Given the description of an element on the screen output the (x, y) to click on. 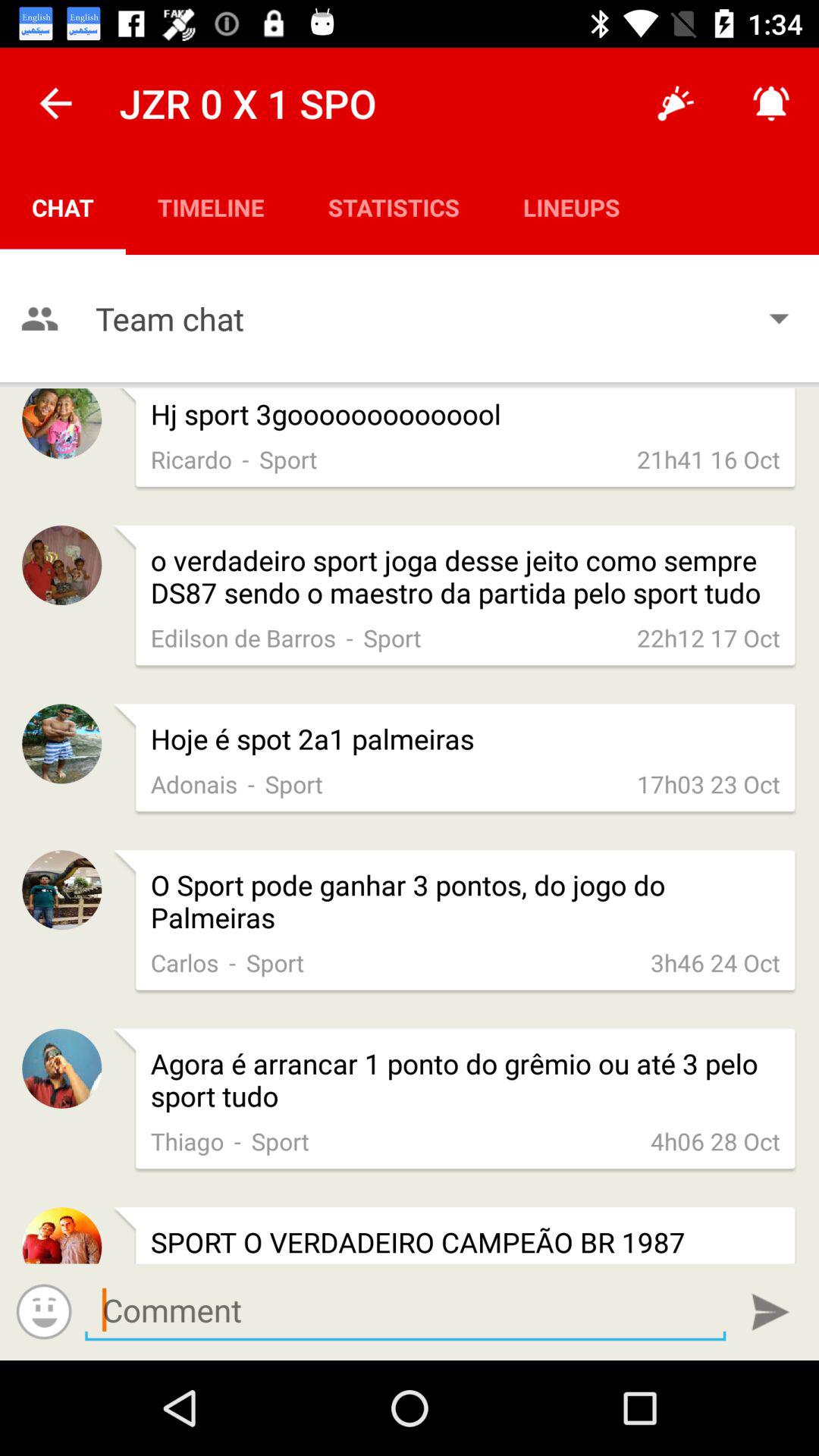
turn on the app to the right of sport item (715, 962)
